Given the description of an element on the screen output the (x, y) to click on. 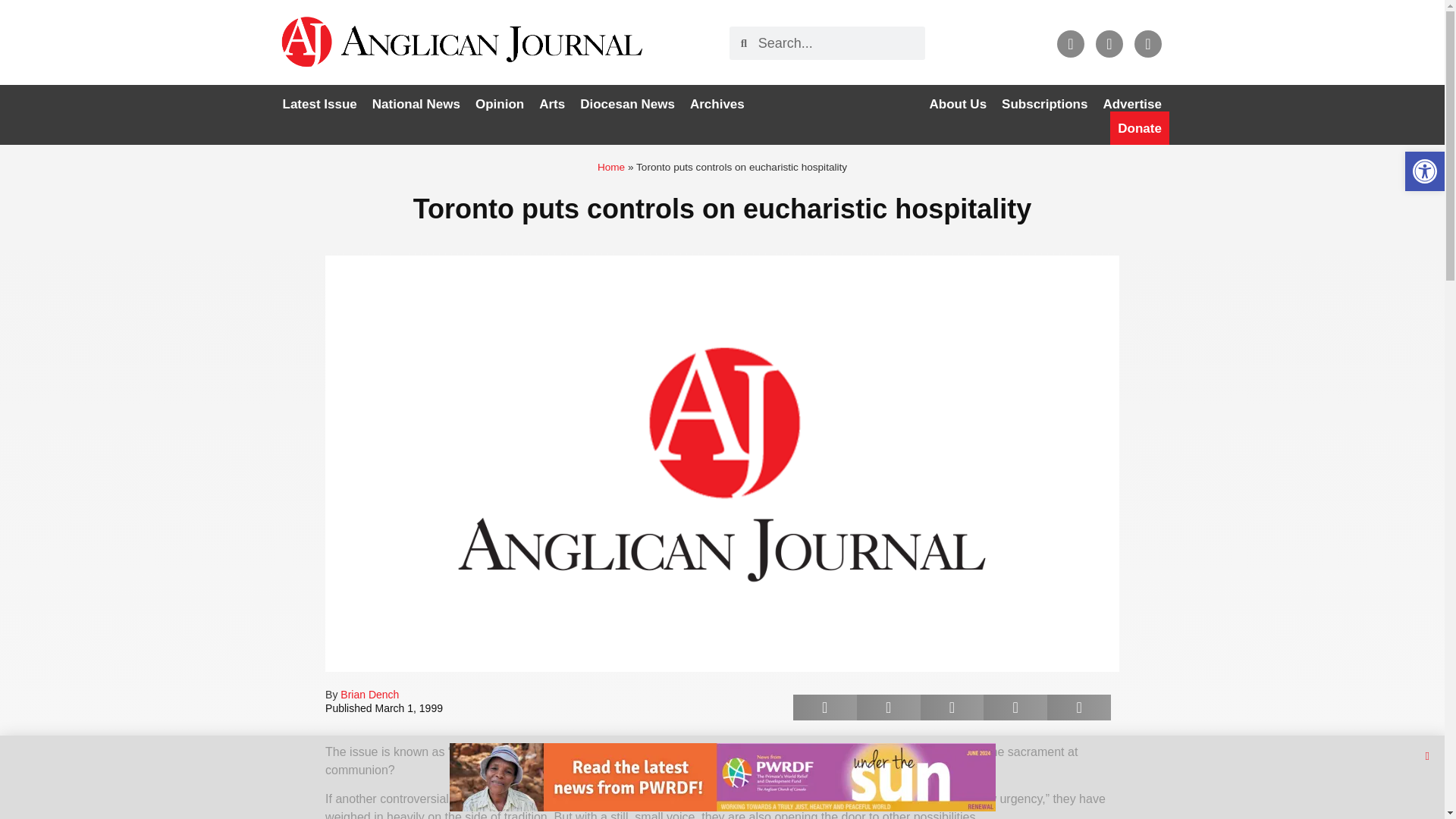
Accessibility Tools (1424, 170)
Opinion (499, 104)
National News (416, 104)
Archives (717, 104)
Arts (551, 104)
Diocesan News (627, 104)
Latest Issue (319, 104)
Brian Dench (369, 694)
